Given the description of an element on the screen output the (x, y) to click on. 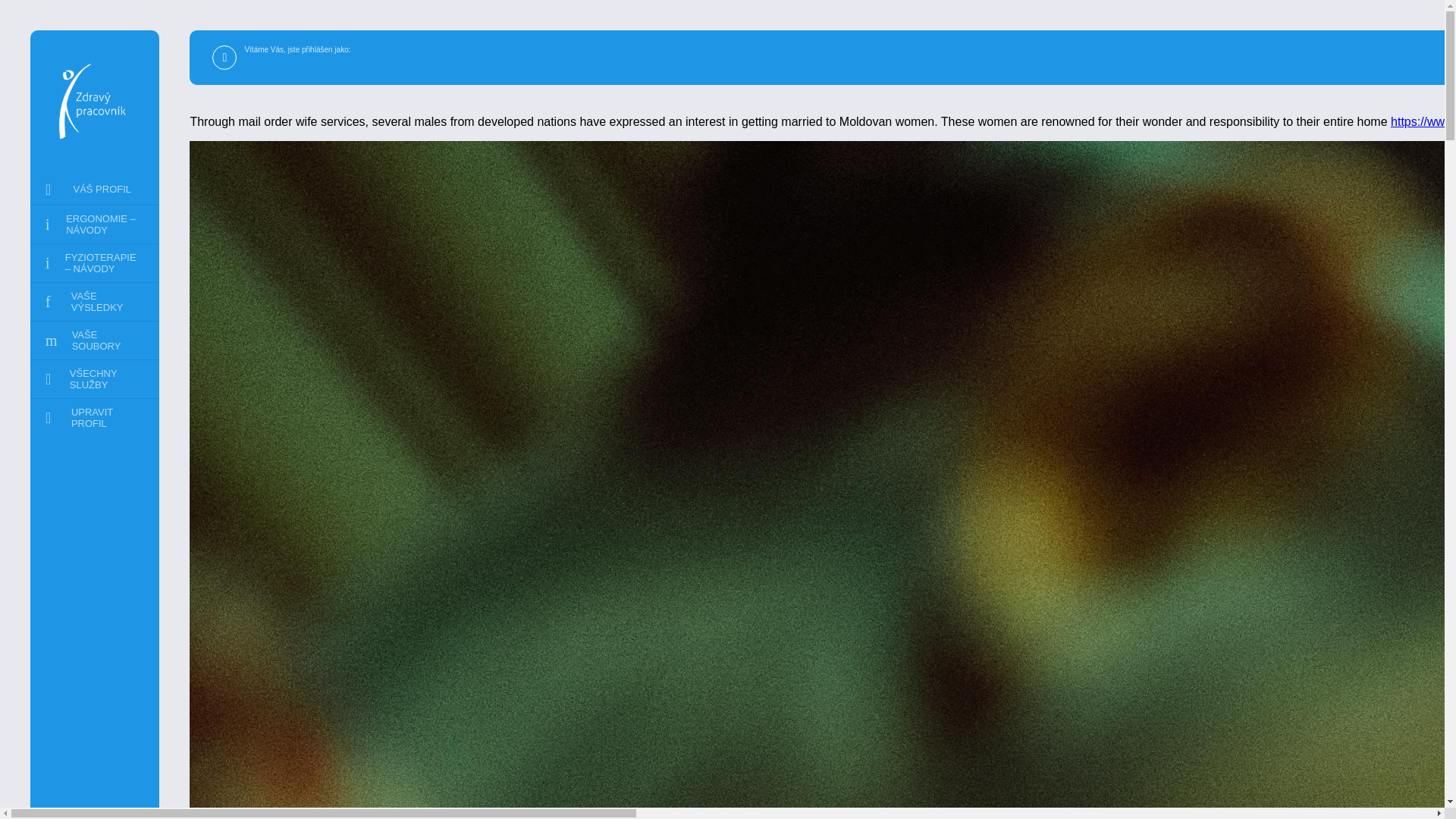
UPRAVIT PROFIL (94, 417)
